Given the description of an element on the screen output the (x, y) to click on. 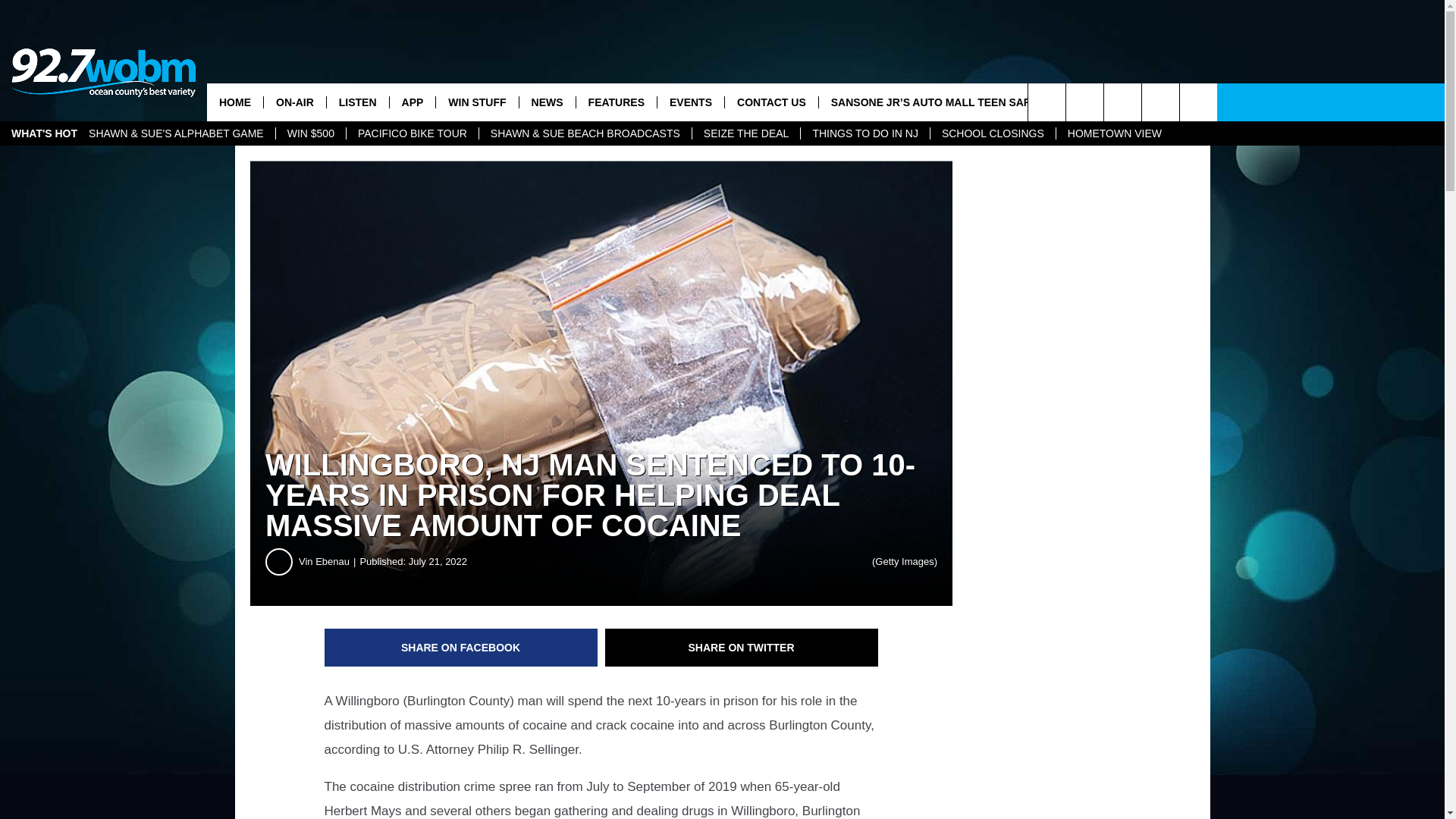
LISTEN (357, 102)
SEIZE THE DEAL (745, 133)
Share on Twitter (741, 647)
PACIFICO BIKE TOUR (412, 133)
APP (411, 102)
NEWS (546, 102)
Share on Facebook (460, 647)
SCHOOL CLOSINGS (992, 133)
WIN STUFF (476, 102)
HOMETOWN VIEW (1114, 133)
